Given the description of an element on the screen output the (x, y) to click on. 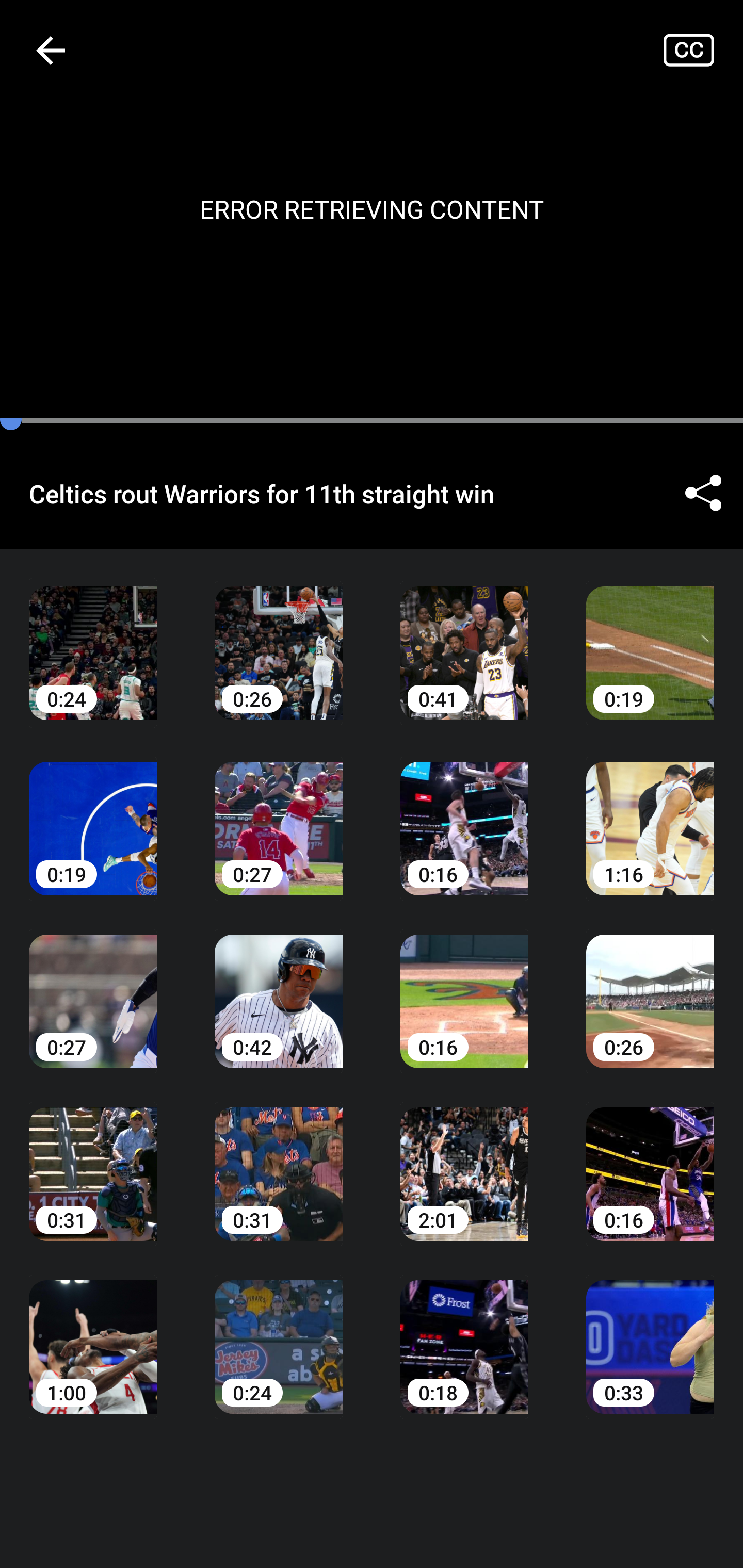
Navigate up (50, 50)
Closed captions  (703, 49)
Share © (703, 493)
0:24 (92, 637)
0:26 (278, 637)
0:41 (464, 637)
0:19 (650, 637)
0:19 (92, 813)
0:27 (278, 813)
0:16 (464, 813)
1:16 (650, 813)
0:27 (92, 987)
0:42 (278, 987)
0:16 (464, 987)
0:26 (650, 987)
0:31 (92, 1160)
0:31 (278, 1160)
2:01 (464, 1160)
0:16 (650, 1160)
1:00 (92, 1332)
0:24 (278, 1332)
0:18 (464, 1332)
0:33 (650, 1332)
